Given the description of an element on the screen output the (x, y) to click on. 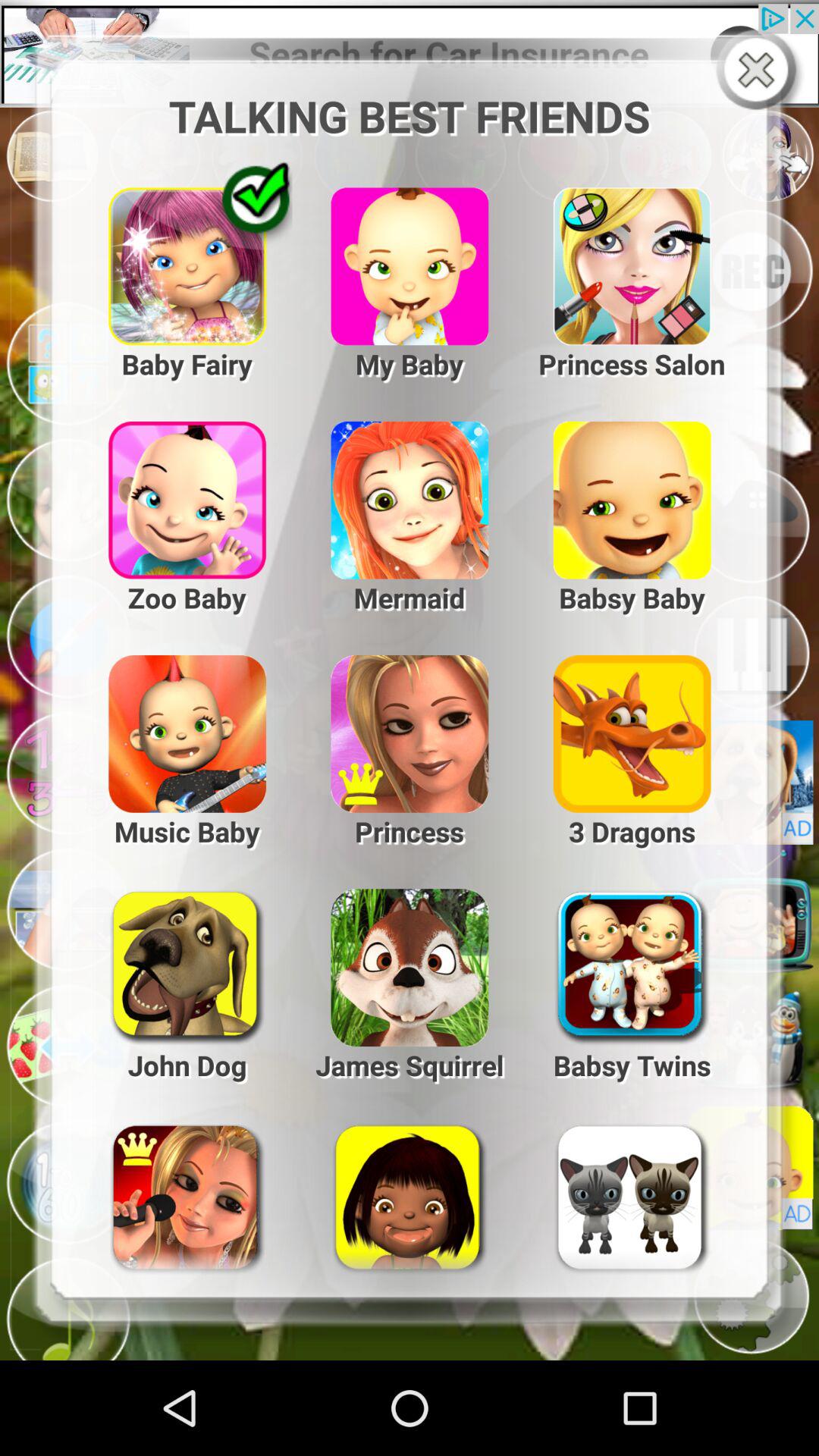
switch close (759, 71)
